Given the description of an element on the screen output the (x, y) to click on. 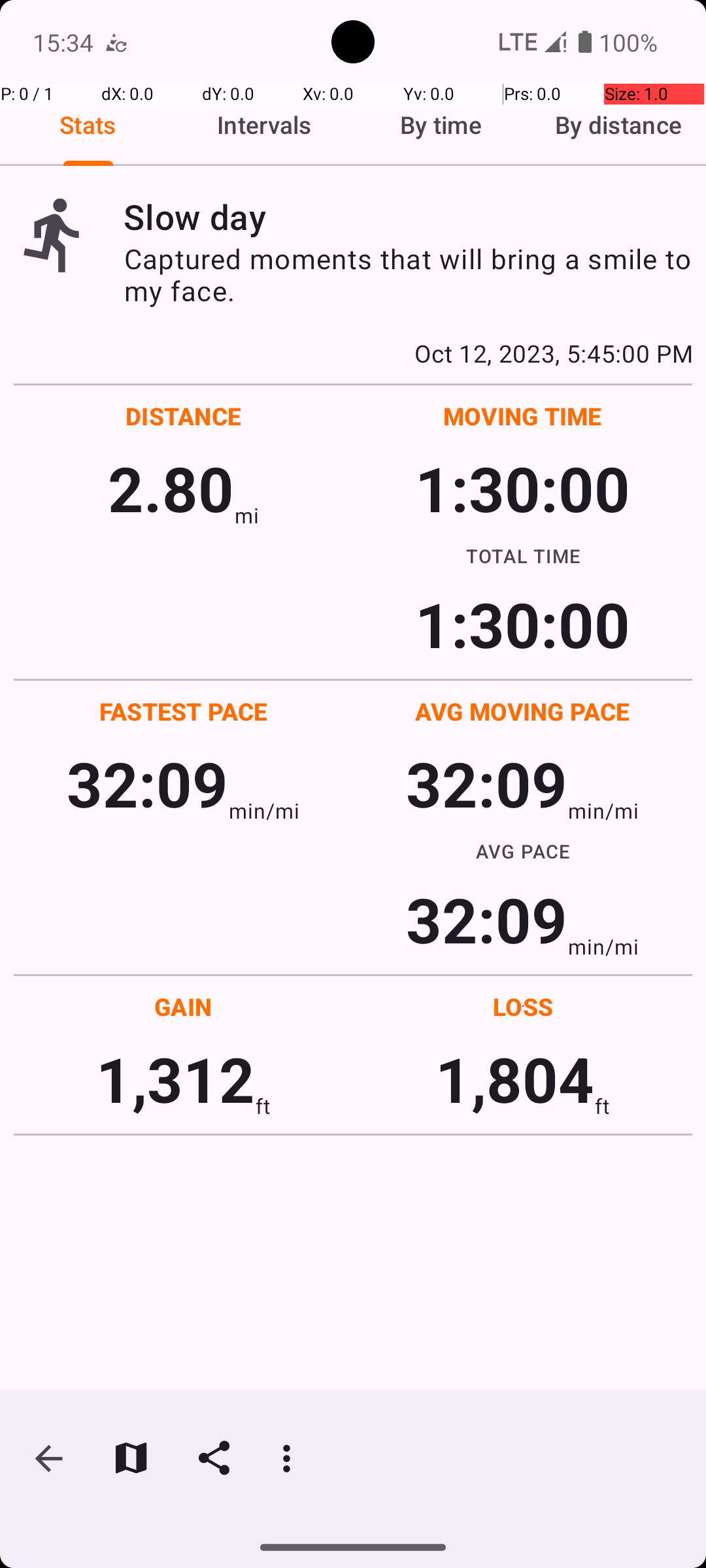
Slow day Element type: android.widget.TextView (407, 216)
Captured moments that will bring a smile to my face. Element type: android.widget.TextView (407, 274)
Oct 12, 2023, 5:45:00 PM Element type: android.widget.TextView (352, 352)
2.80 Element type: android.widget.TextView (170, 487)
1:30:00 Element type: android.widget.TextView (522, 487)
FASTEST PACE Element type: android.widget.TextView (183, 710)
AVG MOVING PACE Element type: android.widget.TextView (522, 710)
32:09 Element type: android.widget.TextView (147, 782)
min/mi Element type: android.widget.TextView (264, 810)
AVG PACE Element type: android.widget.TextView (522, 850)
1,312 Element type: android.widget.TextView (175, 1077)
1,804 Element type: android.widget.TextView (514, 1077)
